Given the description of an element on the screen output the (x, y) to click on. 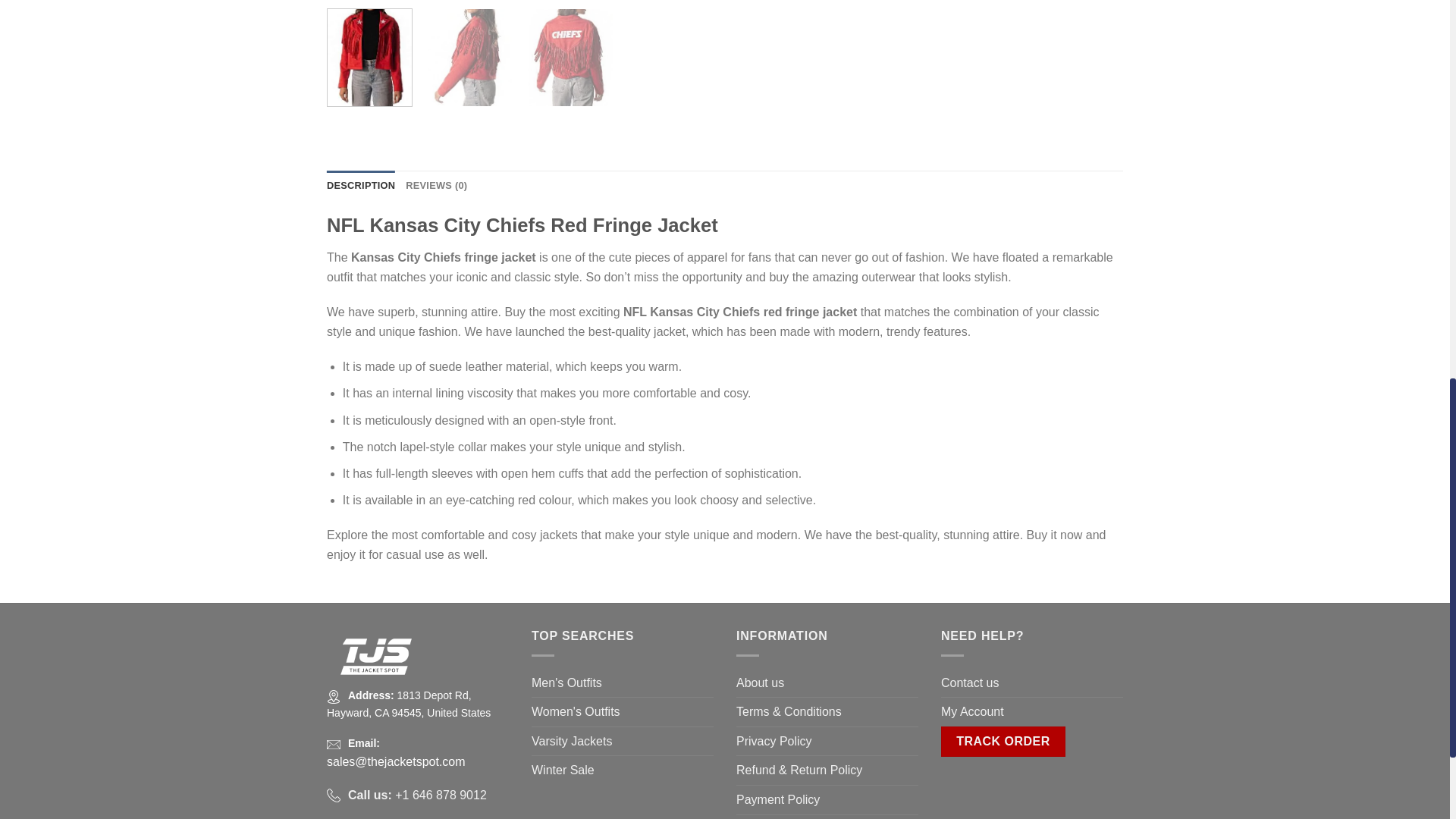
DESCRIPTION (360, 185)
